Given the description of an element on the screen output the (x, y) to click on. 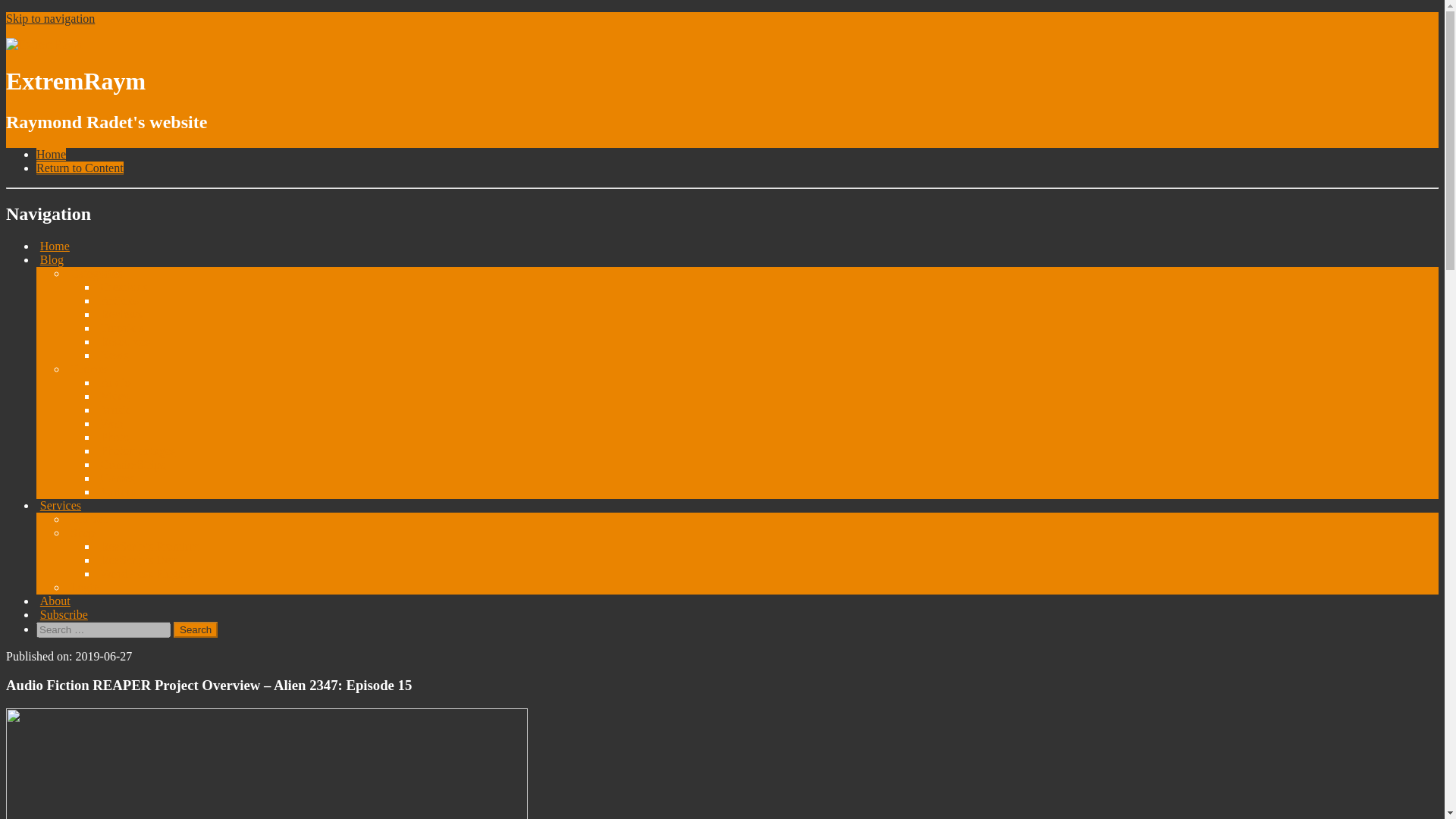
Services (58, 504)
Search (194, 629)
Web (109, 422)
Categories (94, 273)
Photo (113, 436)
WordPress Plugins (144, 573)
Comic-Strips (131, 463)
Return to Content (79, 167)
News (112, 354)
ReaScripts Dev (136, 559)
Articles (117, 300)
Login (82, 586)
Contact (86, 518)
Music (114, 409)
Search (194, 629)
